Given the description of an element on the screen output the (x, y) to click on. 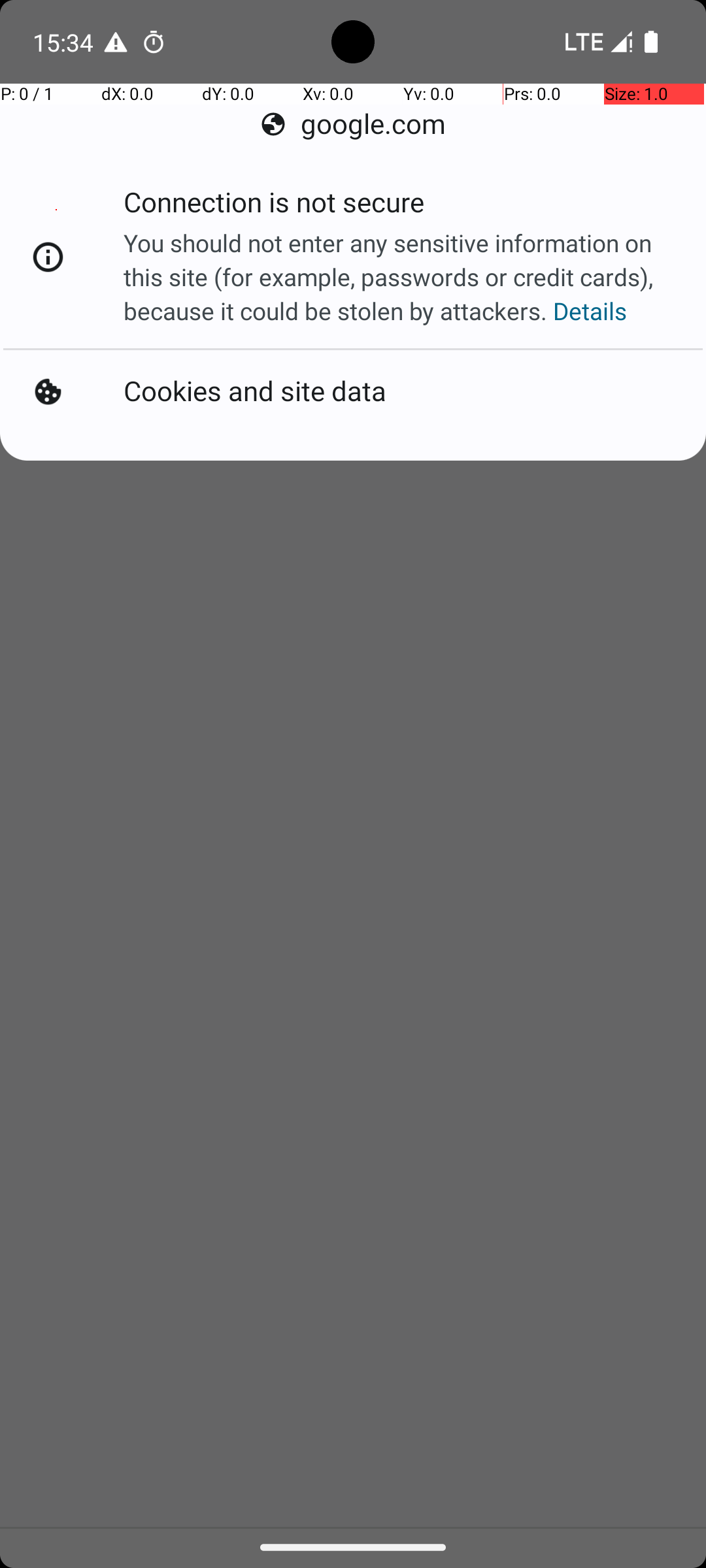
Connection is not secure Element type: android.widget.TextView (276, 209)
You should not enter any sensitive information on this site (for example, passwords or credit cards), because it could be stolen by attackers. Details Element type: android.widget.TextView (399, 277)
Cookies and site data Element type: android.widget.TextView (257, 388)
